Given the description of an element on the screen output the (x, y) to click on. 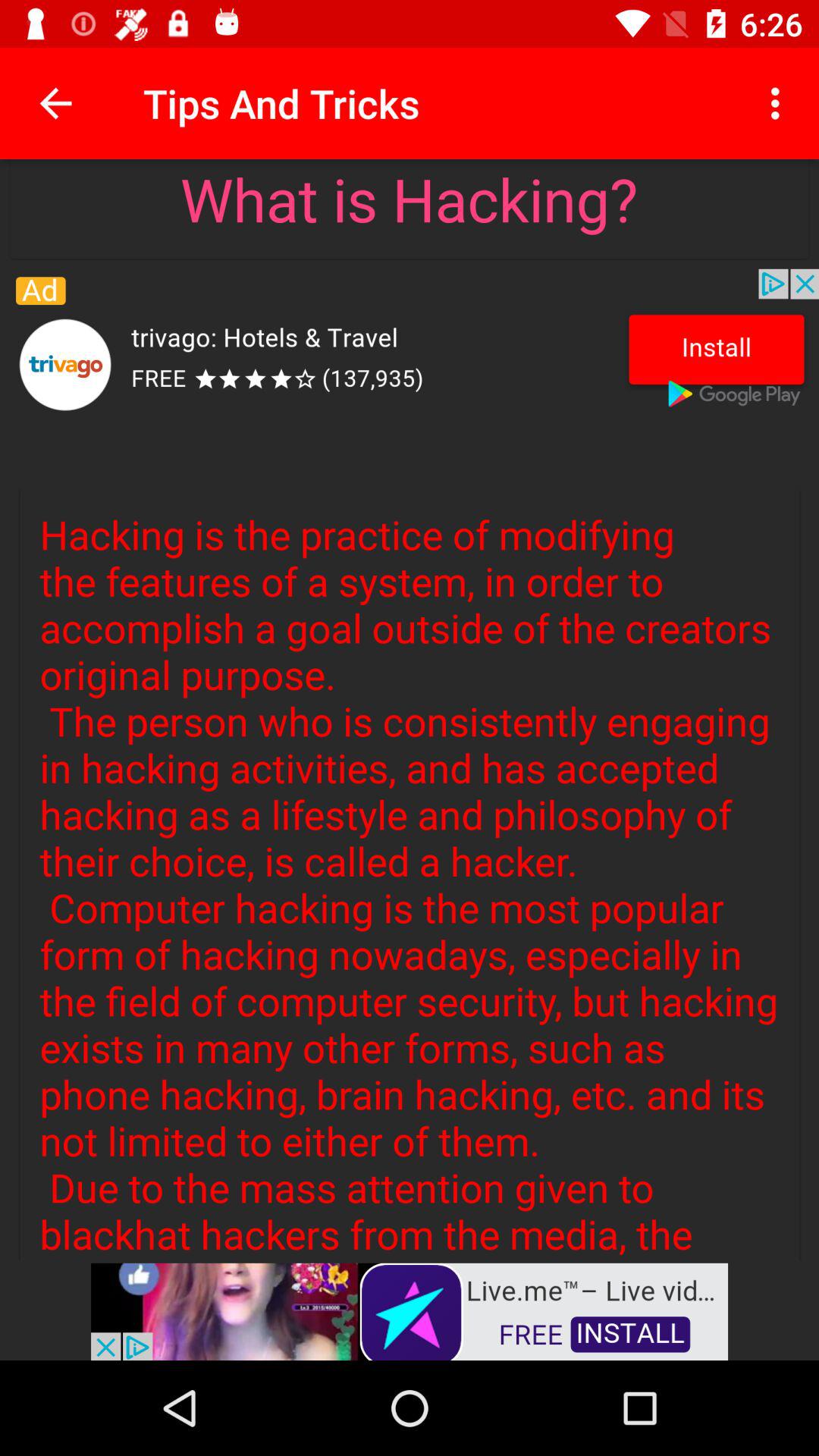
opens the advertisement (409, 1310)
